Given the description of an element on the screen output the (x, y) to click on. 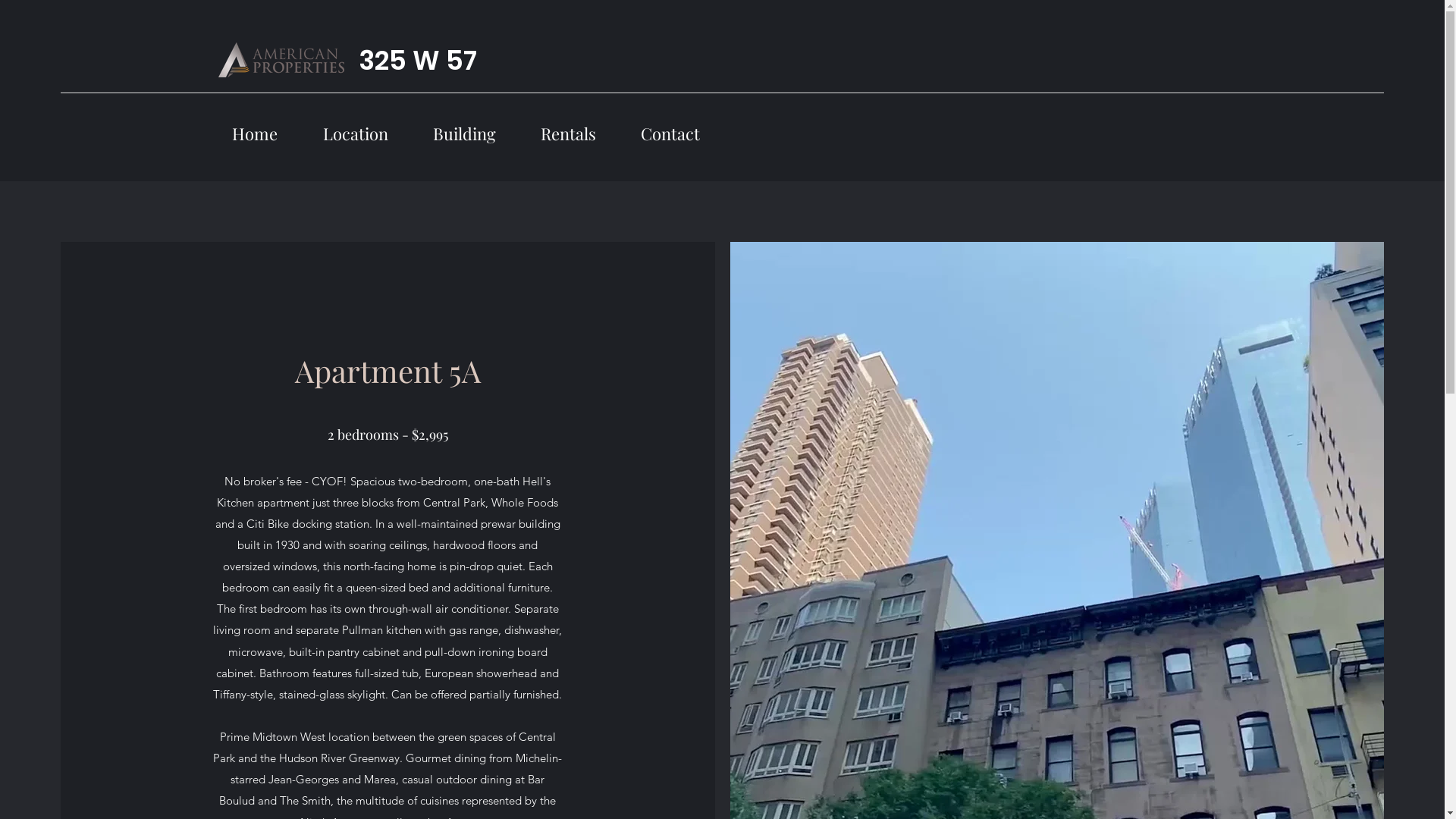
Location Element type: text (364, 126)
Rentals Element type: text (576, 126)
Home Element type: text (263, 126)
Contact Element type: text (678, 126)
Building Element type: text (472, 126)
